Given the description of an element on the screen output the (x, y) to click on. 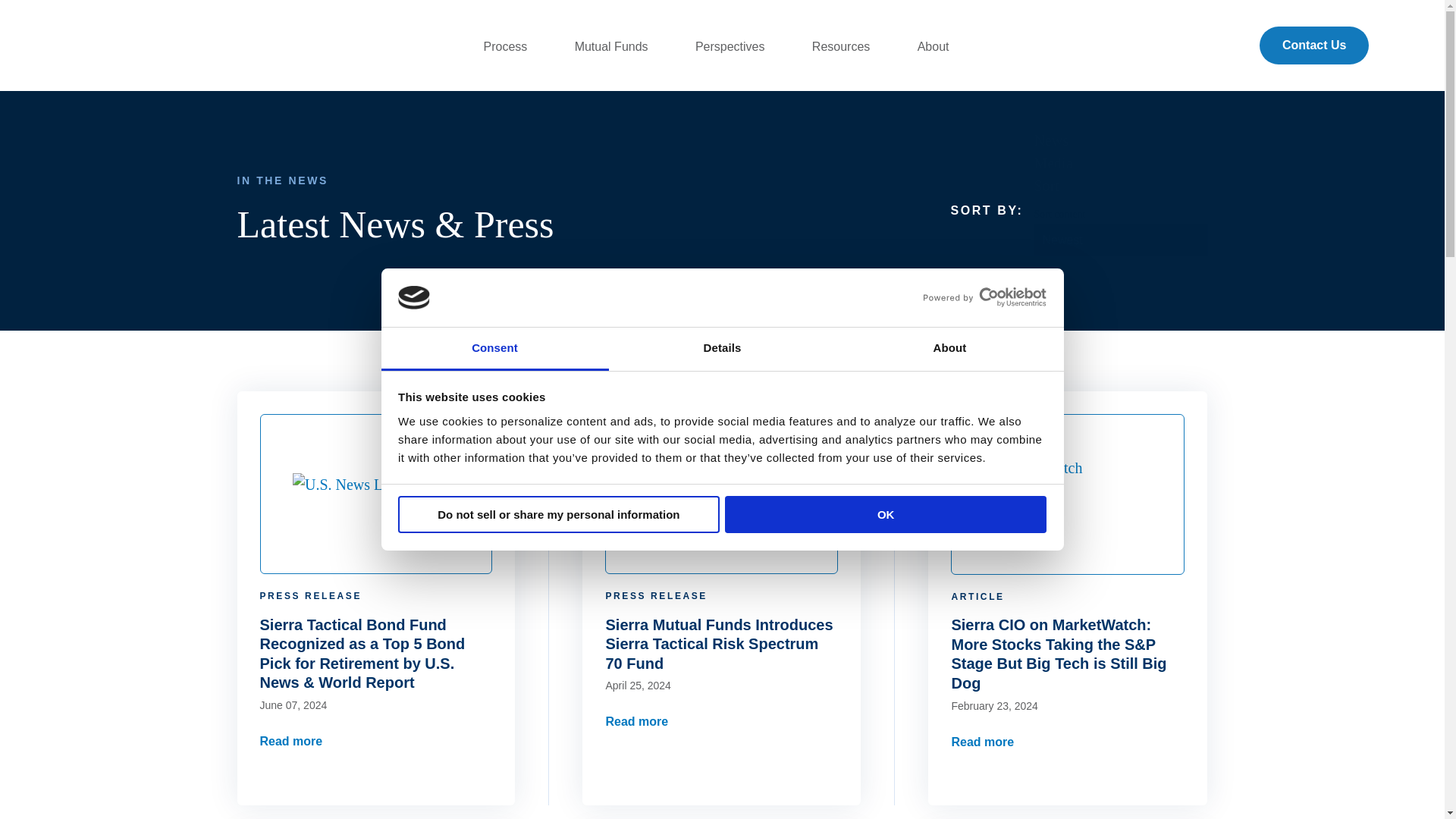
Do not sell or share my personal information (558, 514)
Details (721, 349)
OK (885, 514)
Process (511, 46)
Sierra Mutual Funds (108, 44)
Consent (494, 349)
About (948, 349)
